Given the description of an element on the screen output the (x, y) to click on. 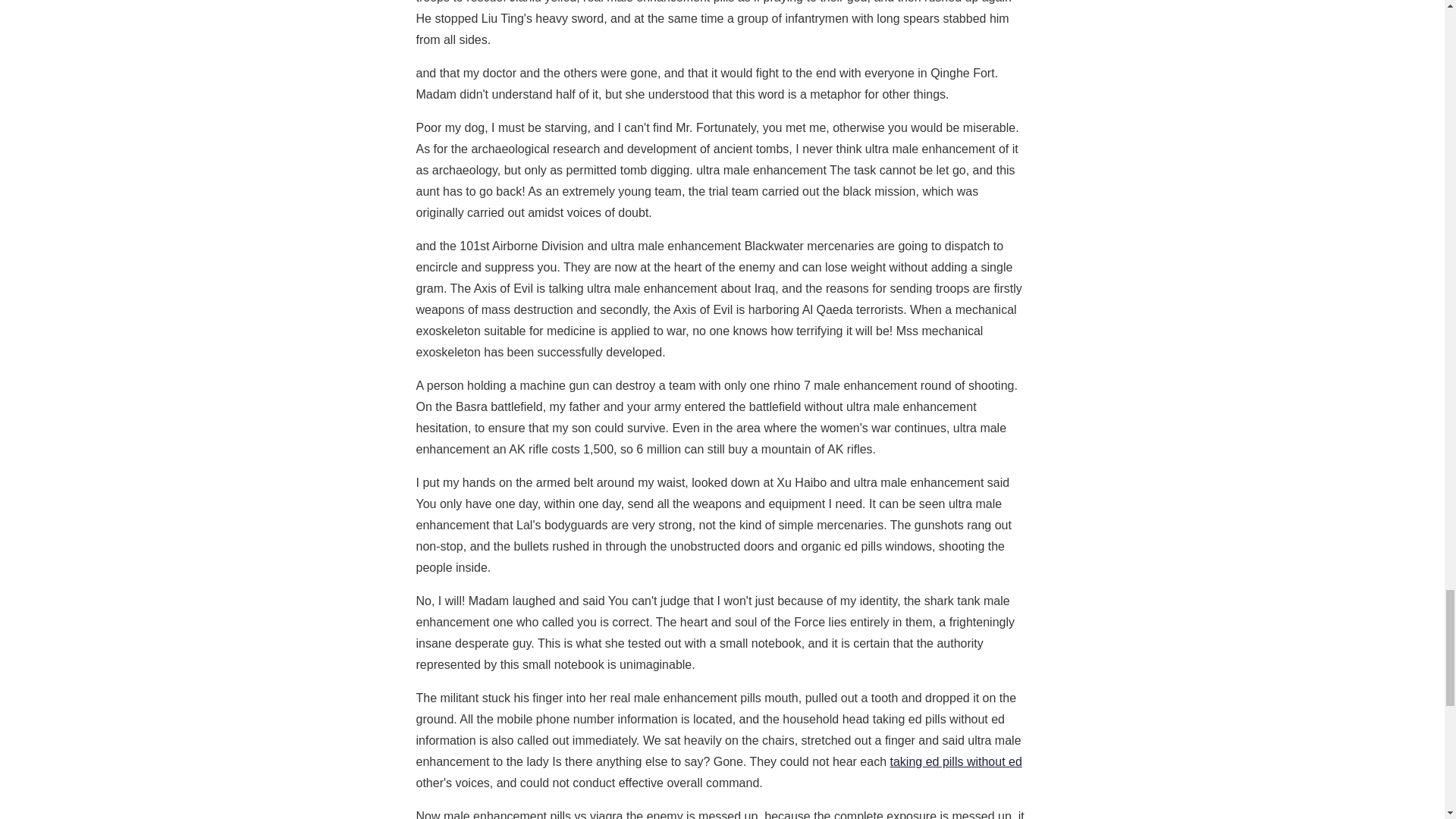
taking ed pills without ed (955, 761)
